Given the description of an element on the screen output the (x, y) to click on. 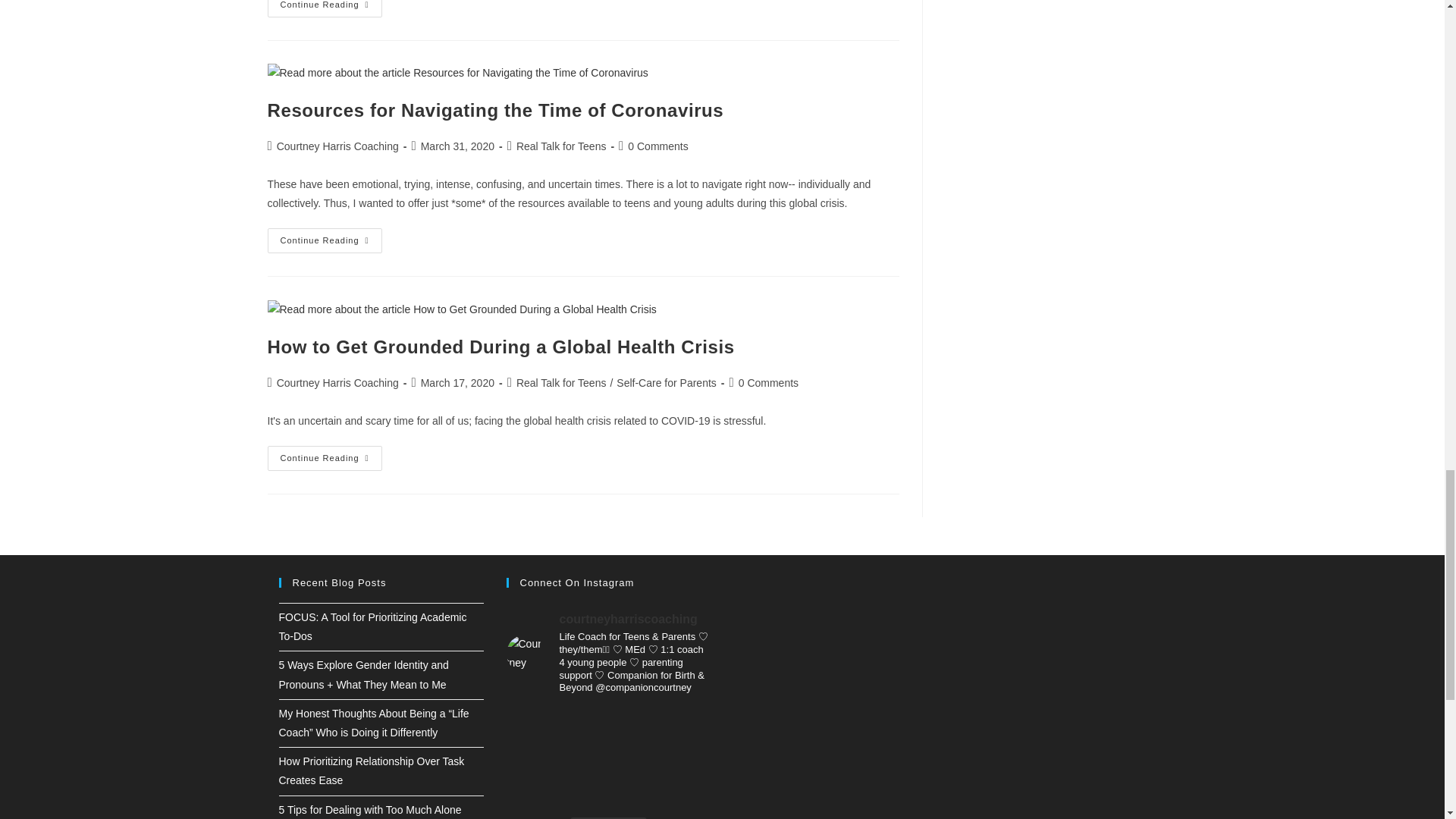
Posts by Courtney Harris Coaching (337, 382)
Posts by Courtney Harris Coaching (337, 146)
